Given the description of an element on the screen output the (x, y) to click on. 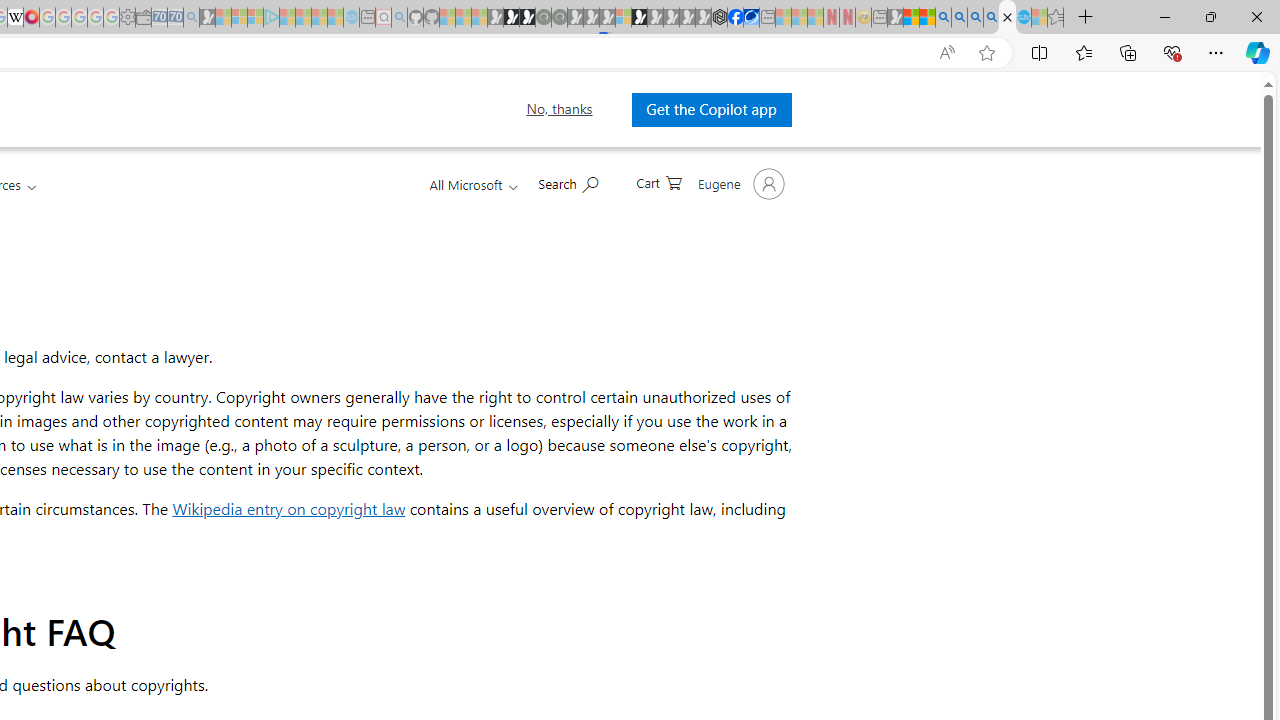
0 items in shopping cart (659, 181)
Search Microsoft Legal Resources (568, 182)
Services - Maintenance | Sky Blue Bikes - Sky Blue Bikes (1023, 17)
Copyrights | Microsoft Legal (1007, 17)
MediaWiki (31, 17)
